Given the description of an element on the screen output the (x, y) to click on. 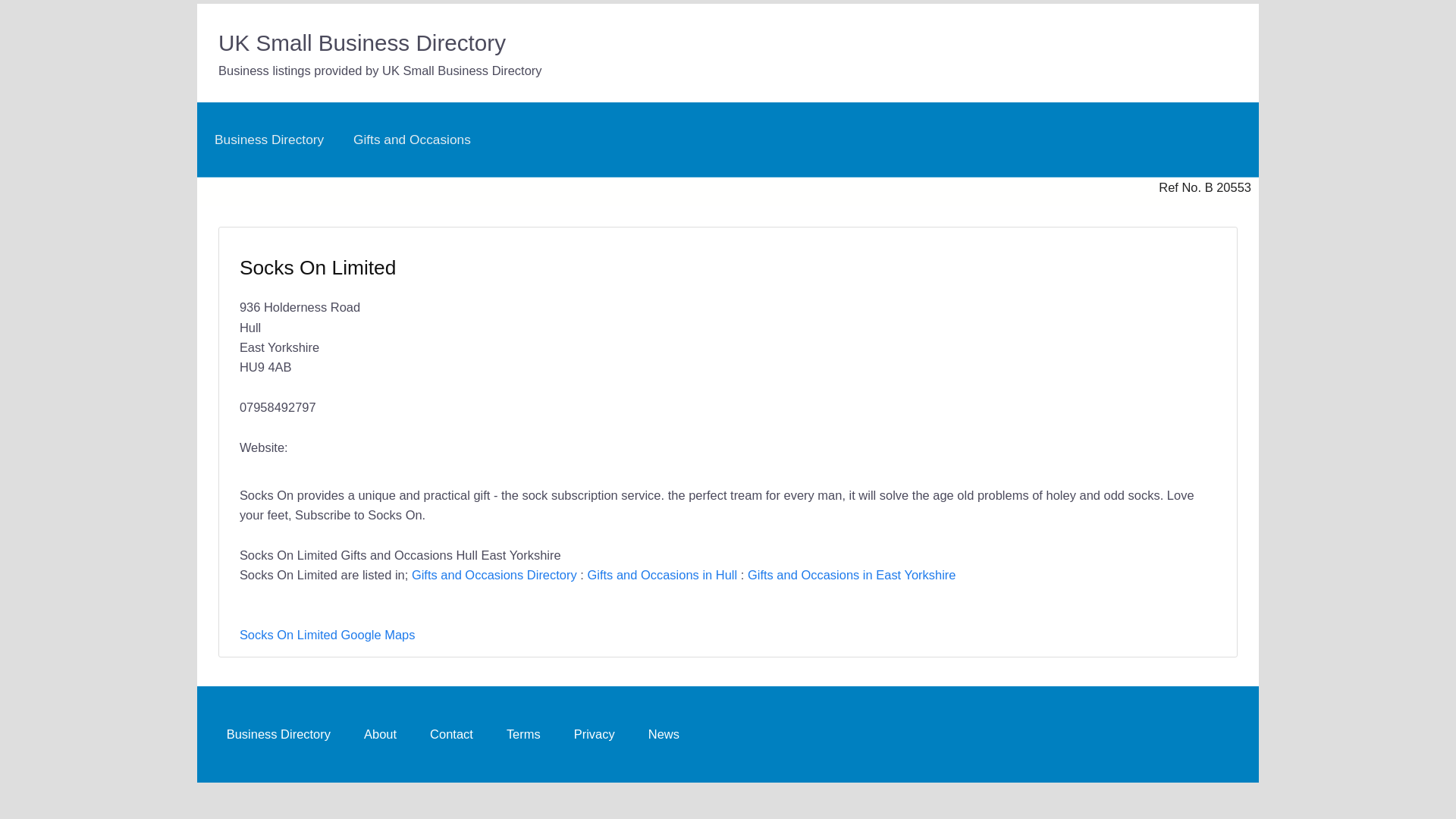
Contact (451, 733)
Gifts and Occasions in East Yorkshire (852, 574)
Gifts and Occasions (411, 139)
About (379, 733)
Gifts and Occasions in Hull (661, 574)
Gifts and Occasions Directory (494, 574)
Socks On Limited Google Maps (327, 634)
News (663, 733)
Business Directory (277, 733)
Business Directory (269, 139)
